Given the description of an element on the screen output the (x, y) to click on. 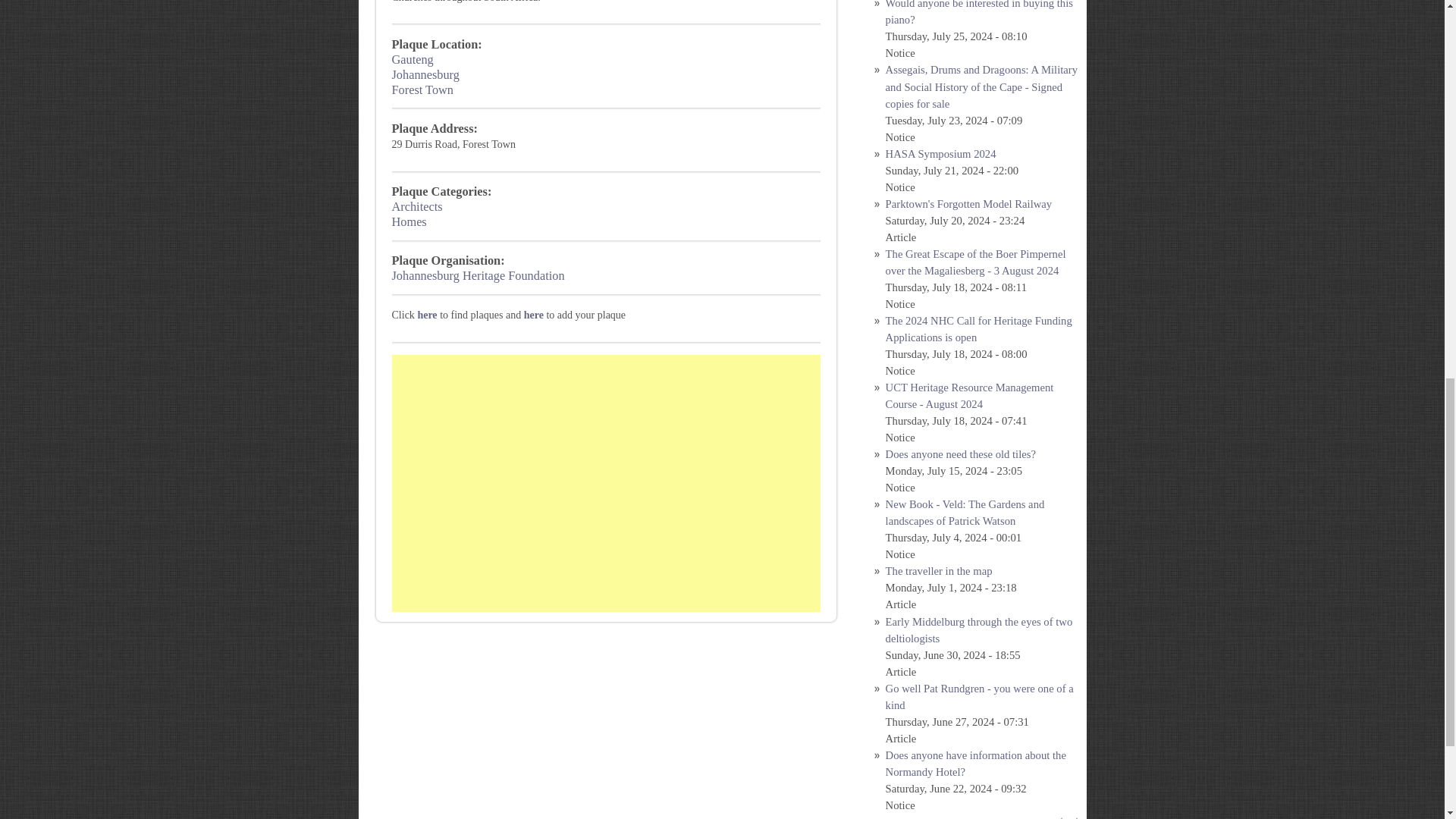
here (533, 314)
 here (426, 314)
Forest Town (421, 89)
Architects (416, 206)
Advertisement (606, 482)
Johannesburg (424, 74)
Homes (408, 221)
Johannesburg Heritage Foundation (477, 275)
Gauteng (411, 59)
